Given the description of an element on the screen output the (x, y) to click on. 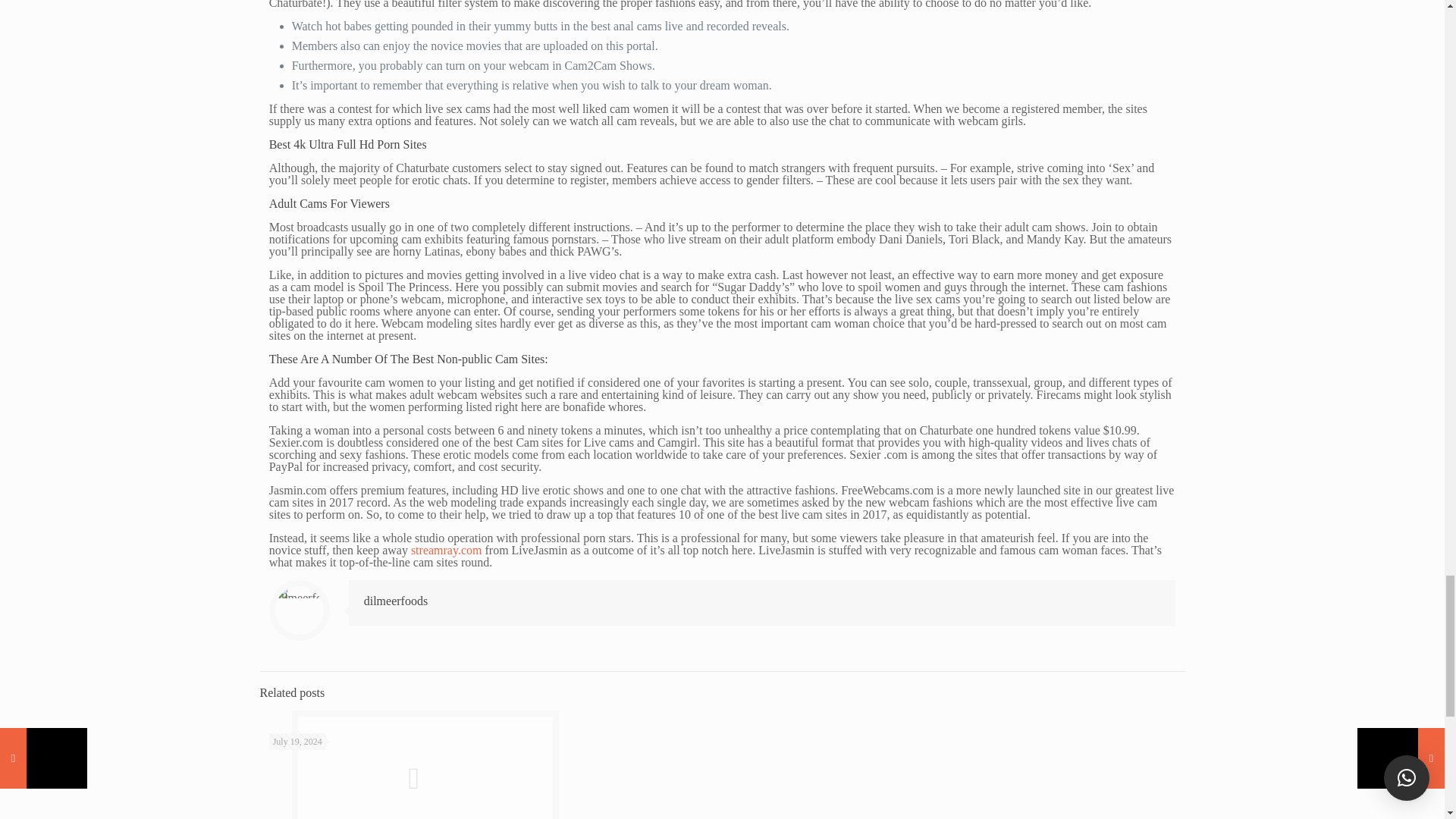
streamray.com (445, 549)
dilmeerfoods (396, 600)
